Given the description of an element on the screen output the (x, y) to click on. 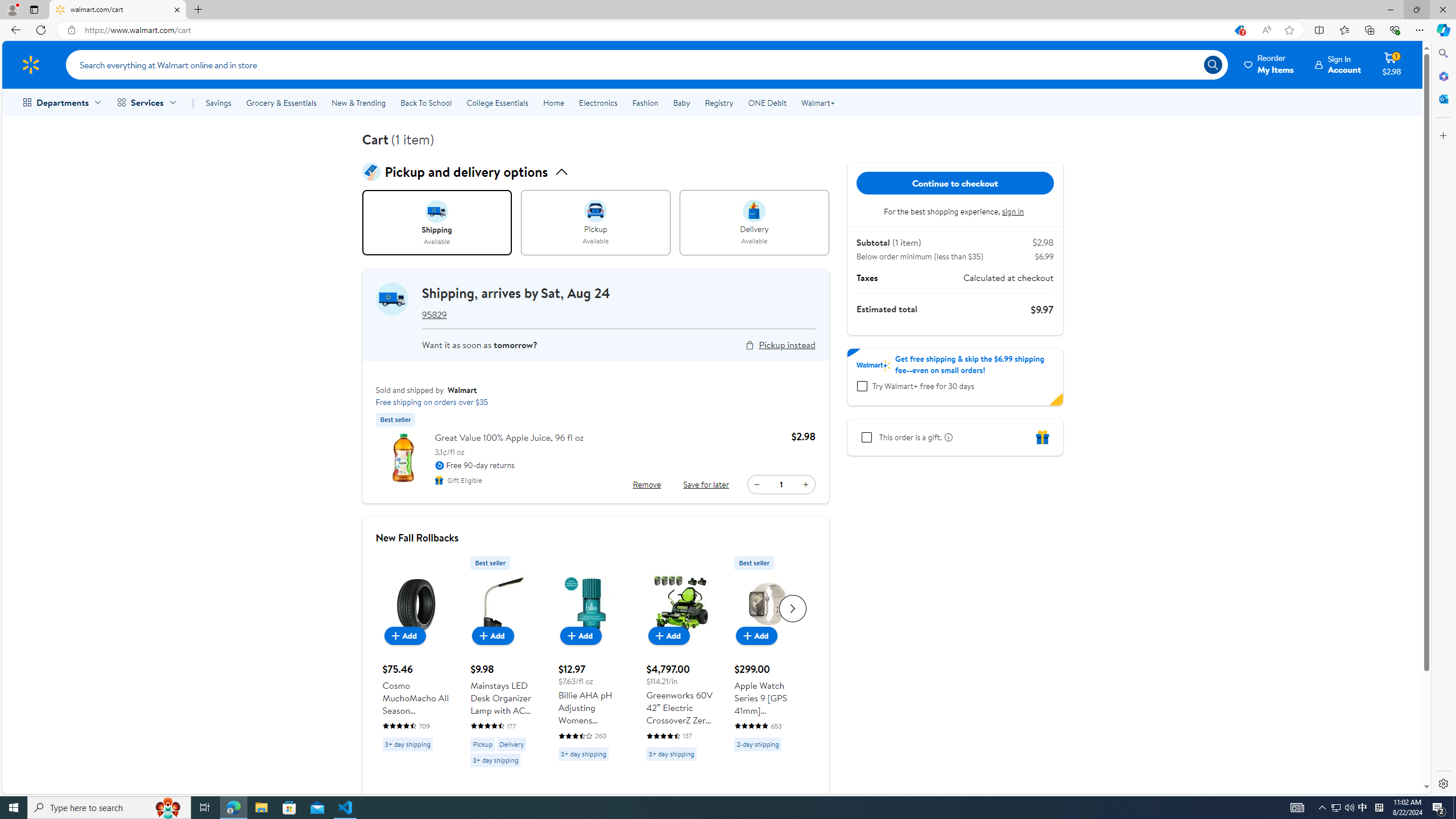
learn more about gifting (946, 437)
Fashion (644, 102)
College Essentials (496, 102)
Continue to checkout (955, 182)
Cosmo MuchoMacho All Season P215/55R17 98W XL Passenger Tire (415, 653)
Savings (217, 102)
This site has coupons! Shopping in Microsoft Edge, 7 (1239, 29)
Back To School (425, 102)
SHIPPING, Available, selected (436, 222)
Walmart+ (817, 102)
